Given the description of an element on the screen output the (x, y) to click on. 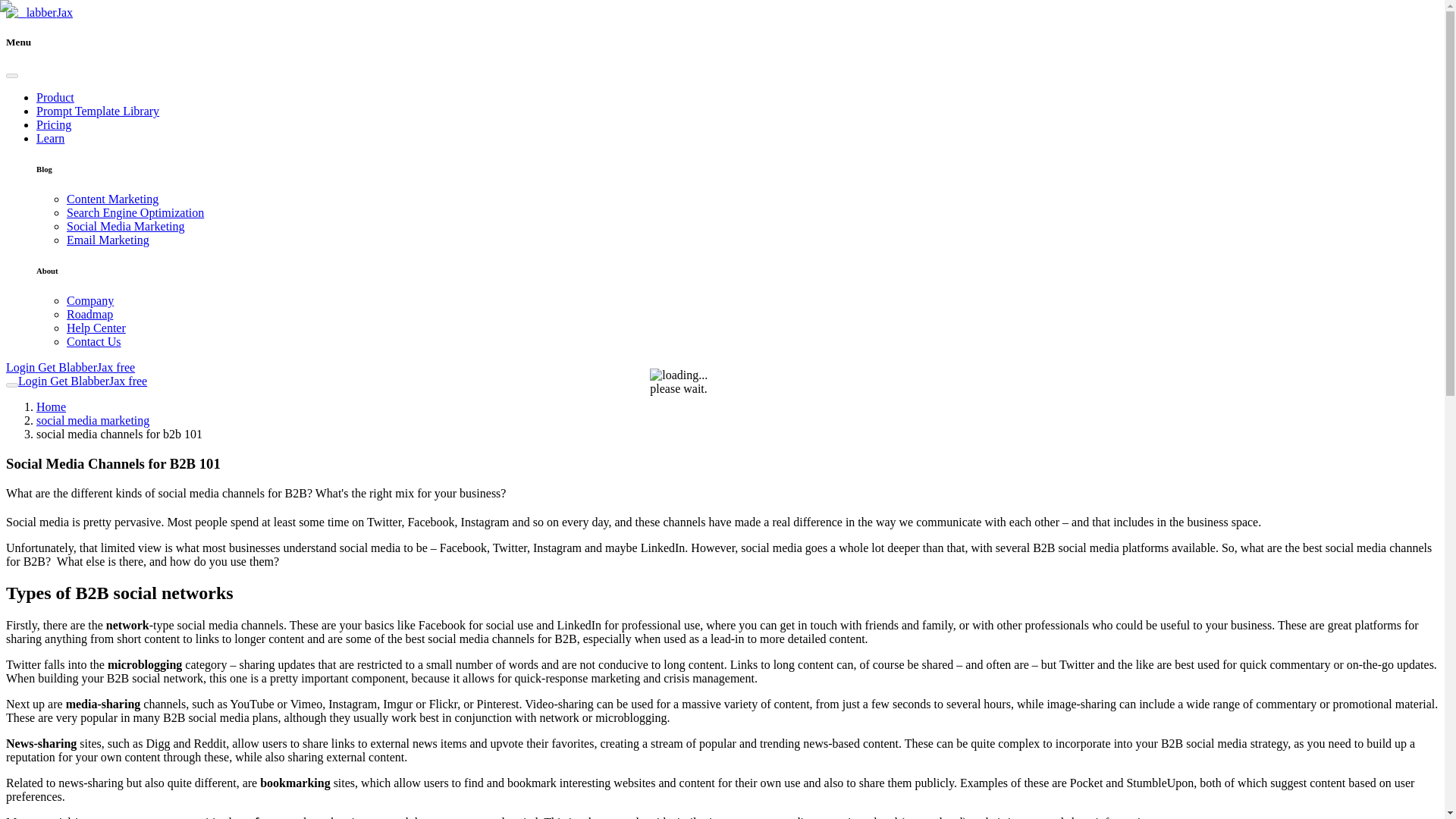
Search Engine Optimization (134, 212)
social media marketing (92, 420)
Prompt Template Library (97, 110)
Contact Us (93, 341)
loading... please wait. (692, 381)
Roadmap (89, 314)
Login (31, 380)
labberJax (38, 11)
 Get BlabberJax free (84, 367)
Learn (50, 137)
Home (50, 406)
 Get BlabberJax free (96, 380)
Social Media Marketing (125, 226)
Help Center (95, 327)
Product (55, 97)
